Given the description of an element on the screen output the (x, y) to click on. 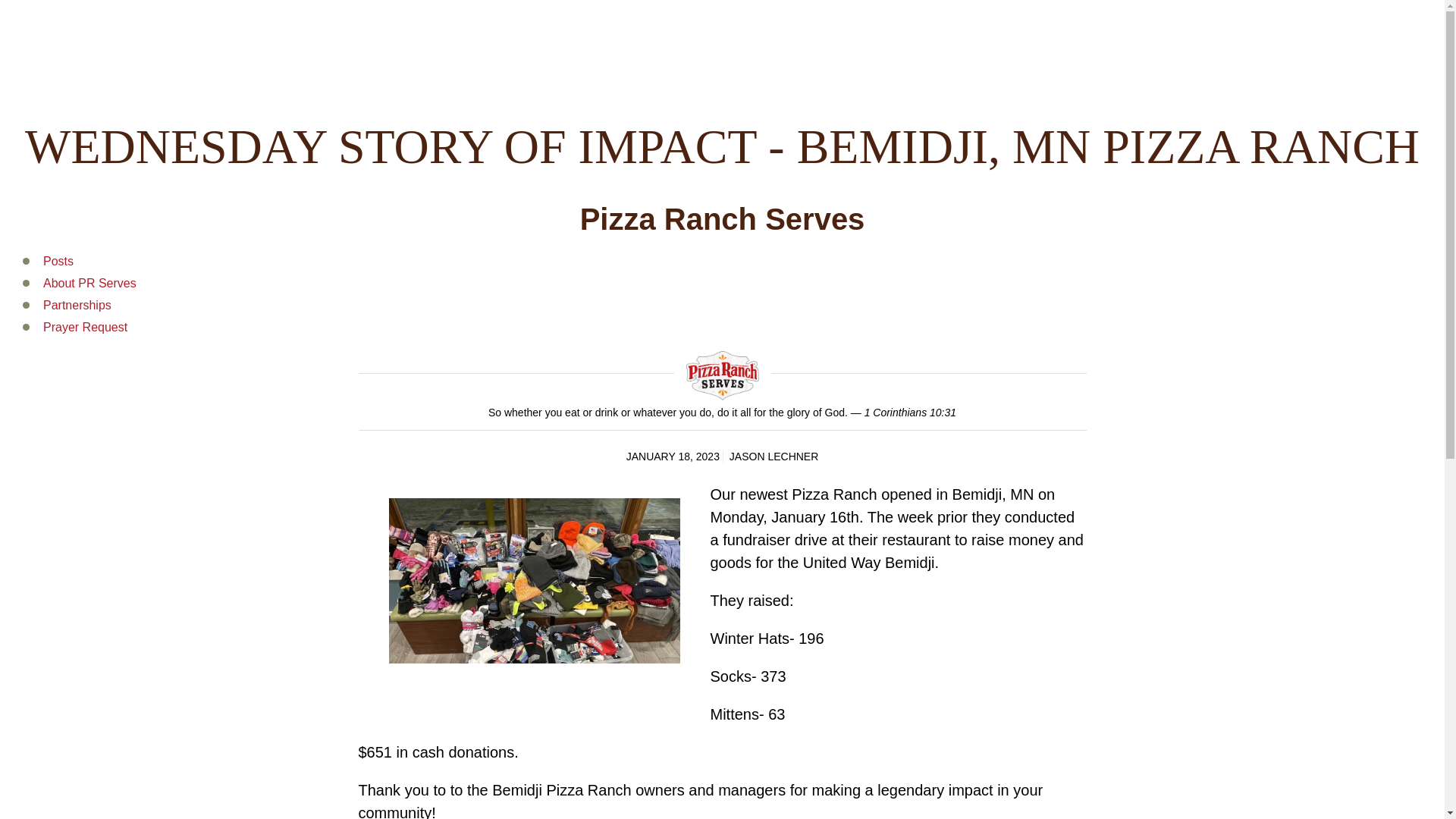
Posts (58, 260)
Partnerships (77, 305)
About PR Serves (89, 282)
Prayer Request (85, 327)
